Given the description of an element on the screen output the (x, y) to click on. 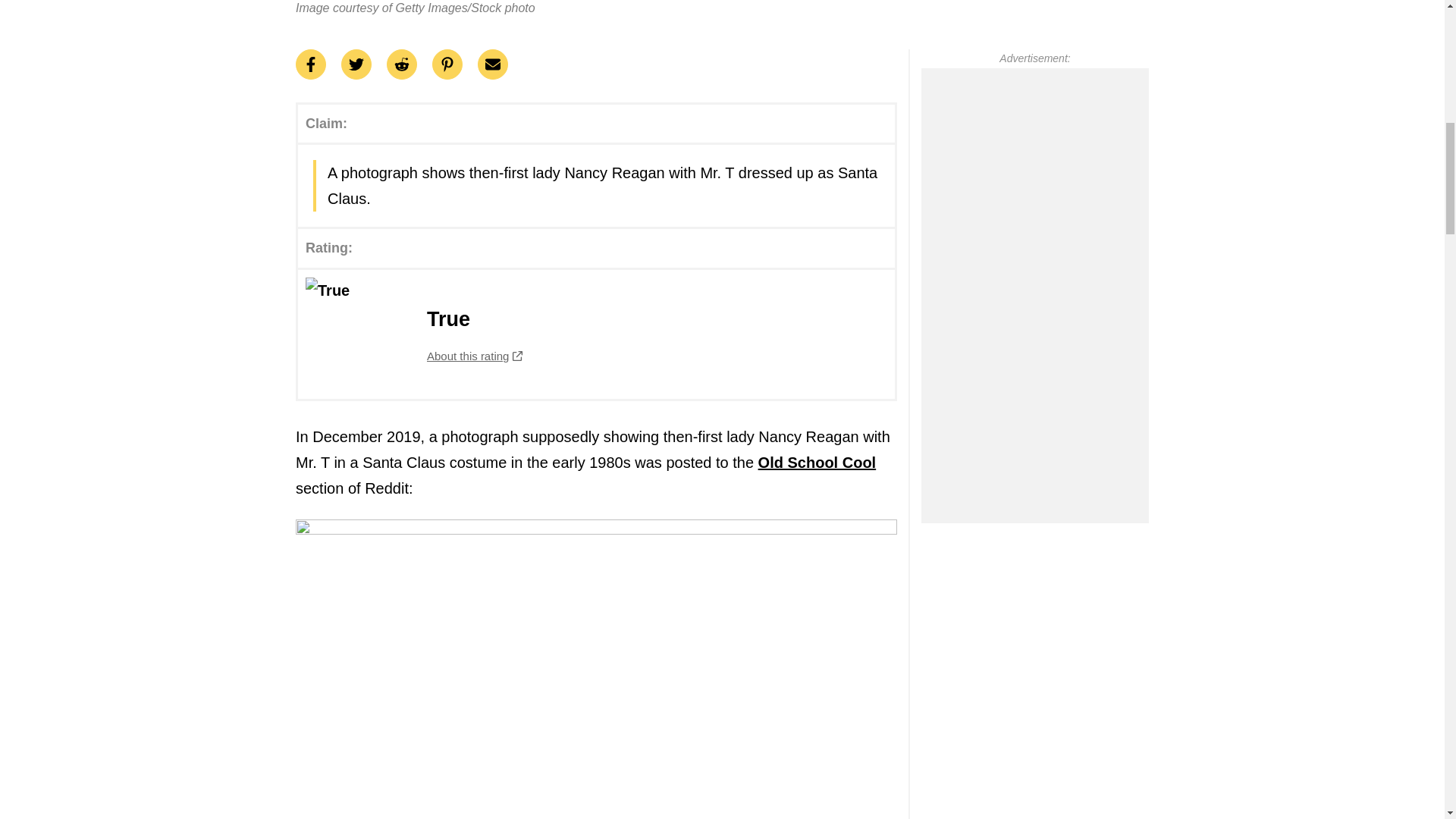
Old School Cool (817, 462)
